Given the description of an element on the screen output the (x, y) to click on. 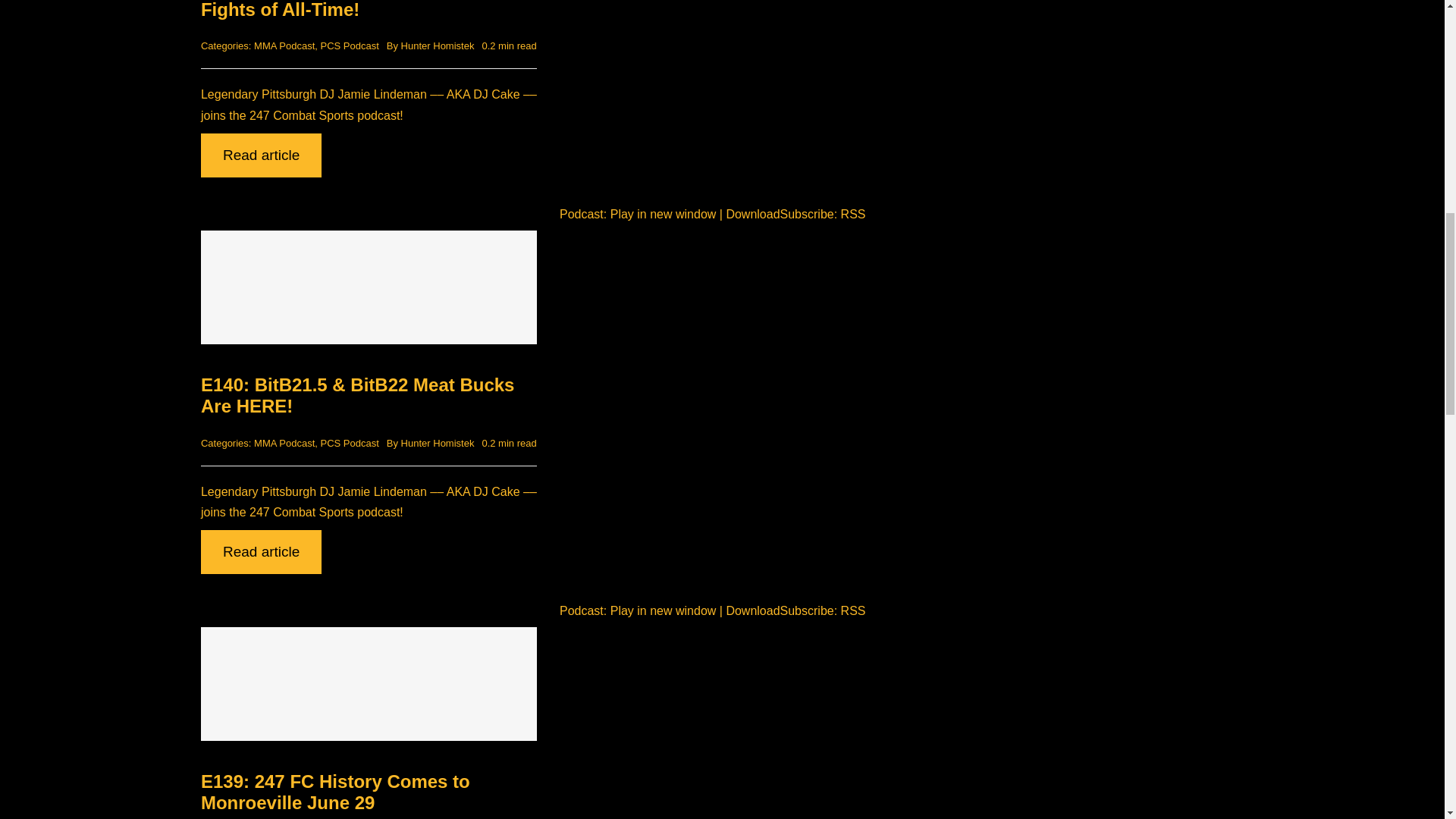
Posts by Hunter Homistek (437, 442)
Play in new window (663, 610)
PCS Podcast (349, 45)
Download (751, 610)
Download (751, 214)
Posts by Hunter Homistek (437, 45)
Subscribe via RSS (853, 214)
E141: 247 FC Debates Top 5 UFC Fights of All-Time! (342, 9)
Read article (260, 155)
Hunter Homistek (437, 45)
